Given the description of an element on the screen output the (x, y) to click on. 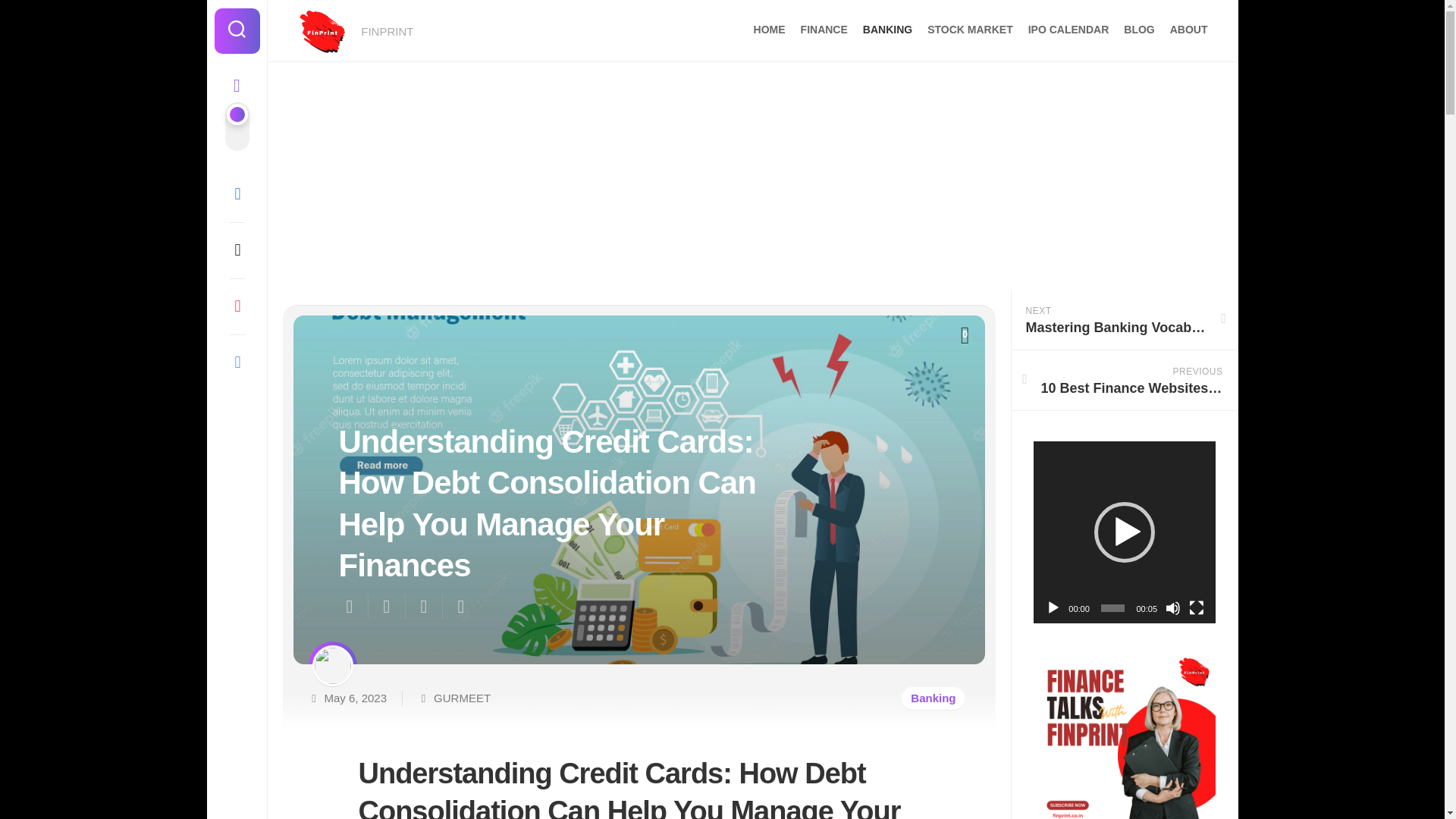
STOCK MARKET (970, 29)
BLOG (1139, 29)
FINANCE (823, 29)
IPO CALENDAR (1068, 29)
Share on Pinterest (423, 606)
Play (1052, 607)
facebook (236, 193)
Telegram (236, 362)
Fullscreen (1196, 607)
0 (964, 334)
BANKING (887, 29)
Share on Facebook (385, 606)
Share on X (351, 606)
Mute (1173, 607)
